Given the description of an element on the screen output the (x, y) to click on. 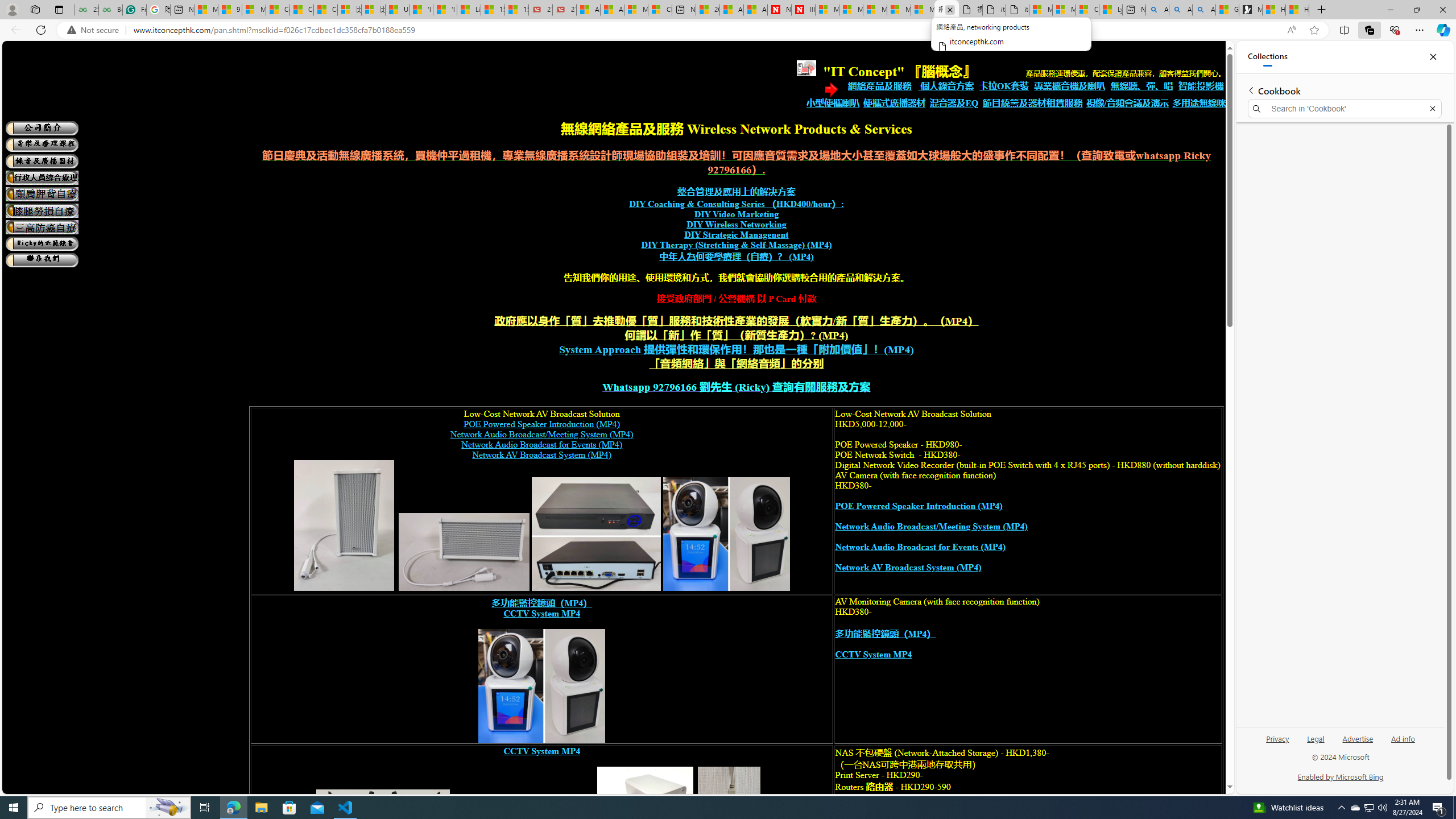
15 Ways Modern Life Contradicts the Teachings of Jesus (515, 9)
Free AI Writing Assistance for Students | Grammarly (134, 9)
Consumer Health Data Privacy Policy (1087, 9)
25 Basic Linux Commands For Beginners - GeeksforGeeks (86, 9)
